Given the description of an element on the screen output the (x, y) to click on. 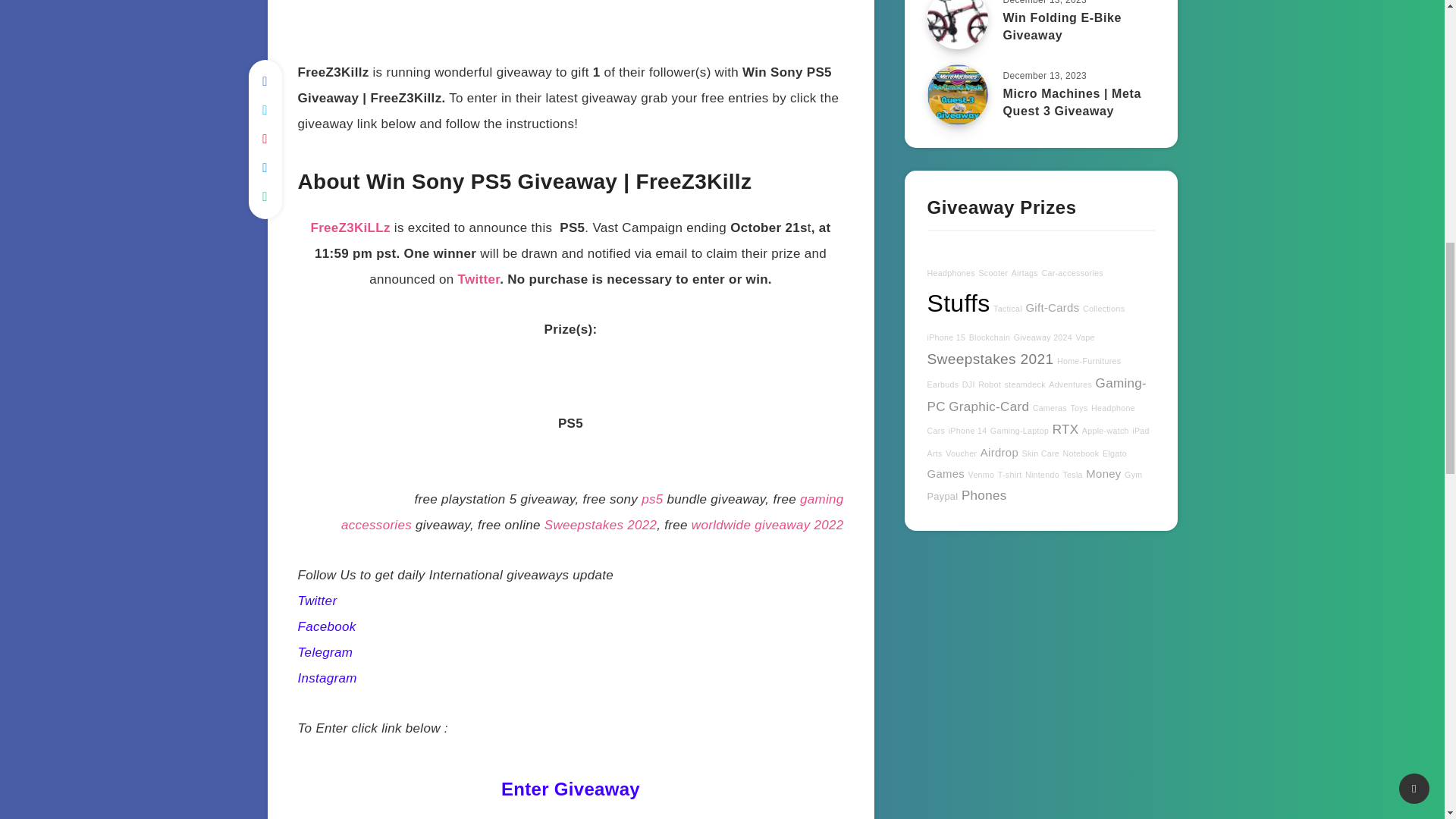
worldwide (721, 524)
Sweepstakes 2022 (600, 524)
ps5 (652, 499)
Twitter (479, 278)
FreeZ3KiLLz (350, 227)
gaming accessories (592, 512)
37 topics (950, 272)
37 topics (992, 272)
